Given the description of an element on the screen output the (x, y) to click on. 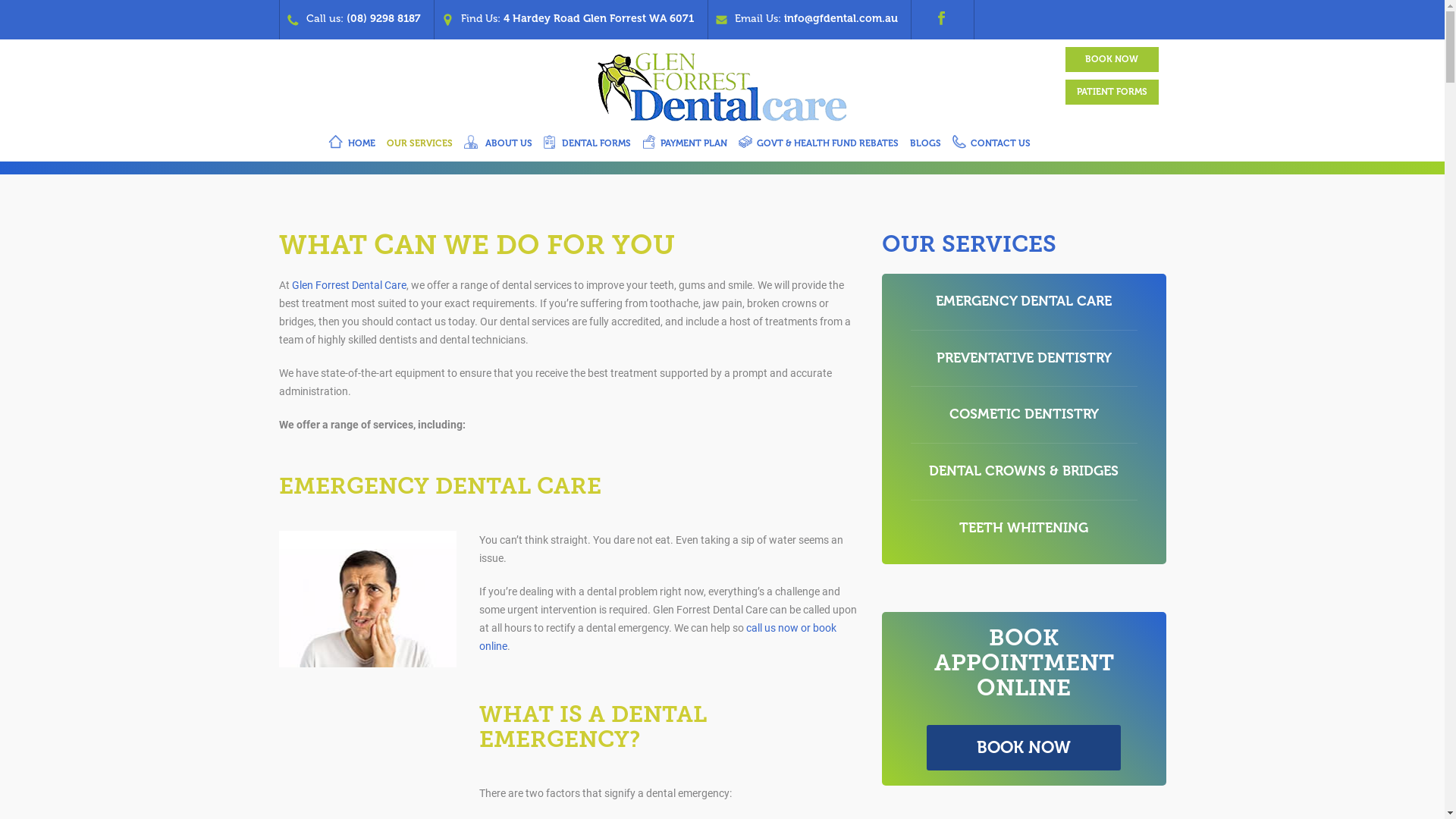
PAYMENT PLAN Element type: text (684, 145)
Glen Forrest Dental Element type: hover (721, 84)
OUR SERVICES Element type: text (418, 145)
(08) 9298 8187 Element type: text (382, 18)
DENTAL FORMS Element type: text (586, 145)
PREVENTATIVE DENTISTRY Element type: text (1022, 357)
CONTACT US Element type: text (990, 145)
BOOK NOW Element type: text (1110, 59)
call us now or book online Element type: text (657, 636)
DENTAL CROWNS & BRIDGES Element type: text (1023, 470)
GOVT & HEALTH FUND REBATES Element type: text (817, 145)
TEETH WHITENING Element type: text (1023, 527)
PATIENT FORMS Element type: text (1110, 91)
COSMETIC DENTISTRY Element type: text (1023, 413)
BOOK NOW Element type: text (1023, 747)
BLOGS Element type: text (924, 145)
emergency dentist perth Element type: hover (368, 598)
Glen Forrest Dental Care Element type: text (348, 285)
EMERGENCY DENTAL CARE Element type: text (1023, 300)
info@gfdental.com.au Element type: text (840, 18)
HOME Element type: text (351, 145)
ABOUT US Element type: text (497, 145)
